Given the description of an element on the screen output the (x, y) to click on. 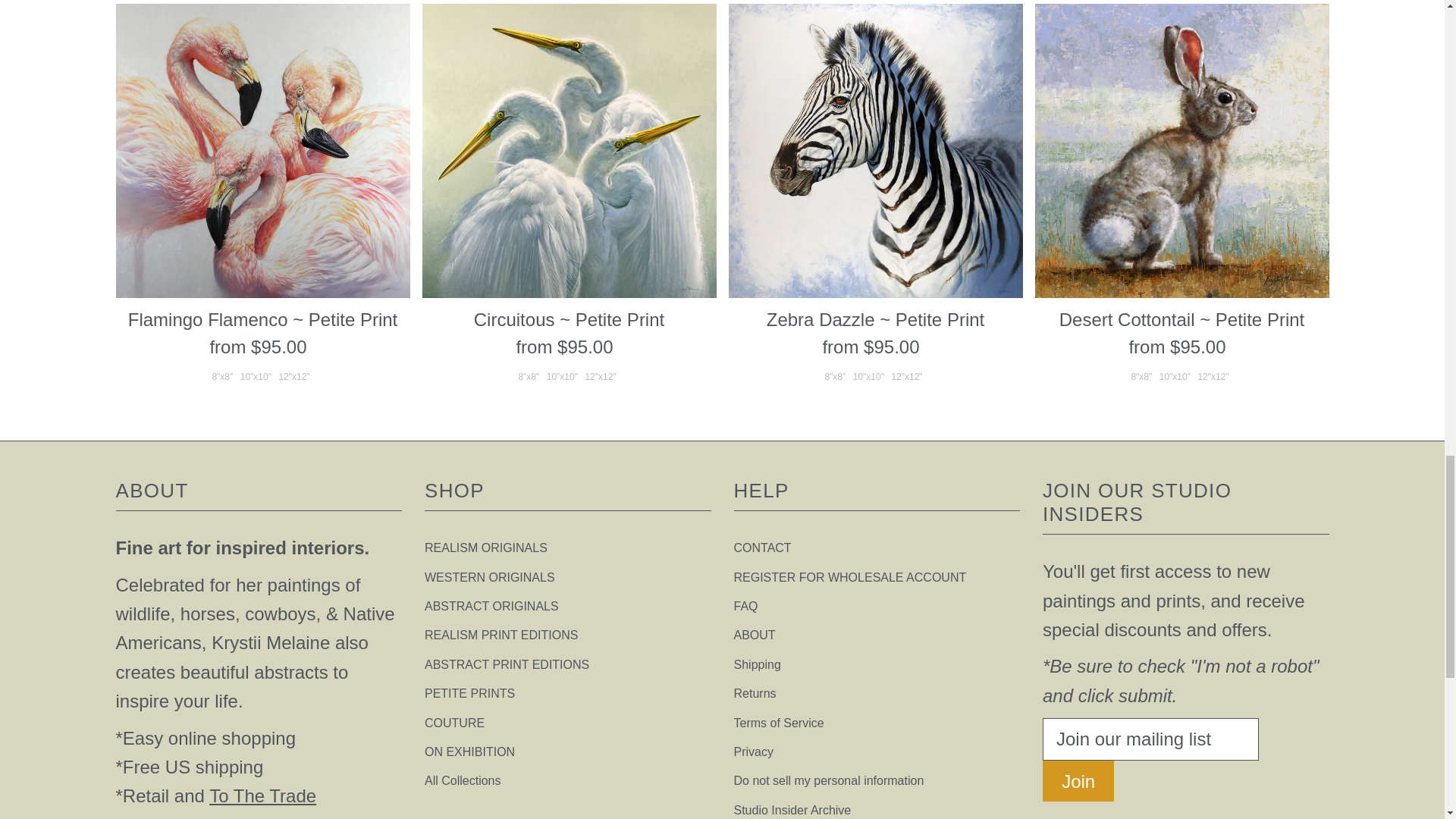
Join (1077, 780)
